Given the description of an element on the screen output the (x, y) to click on. 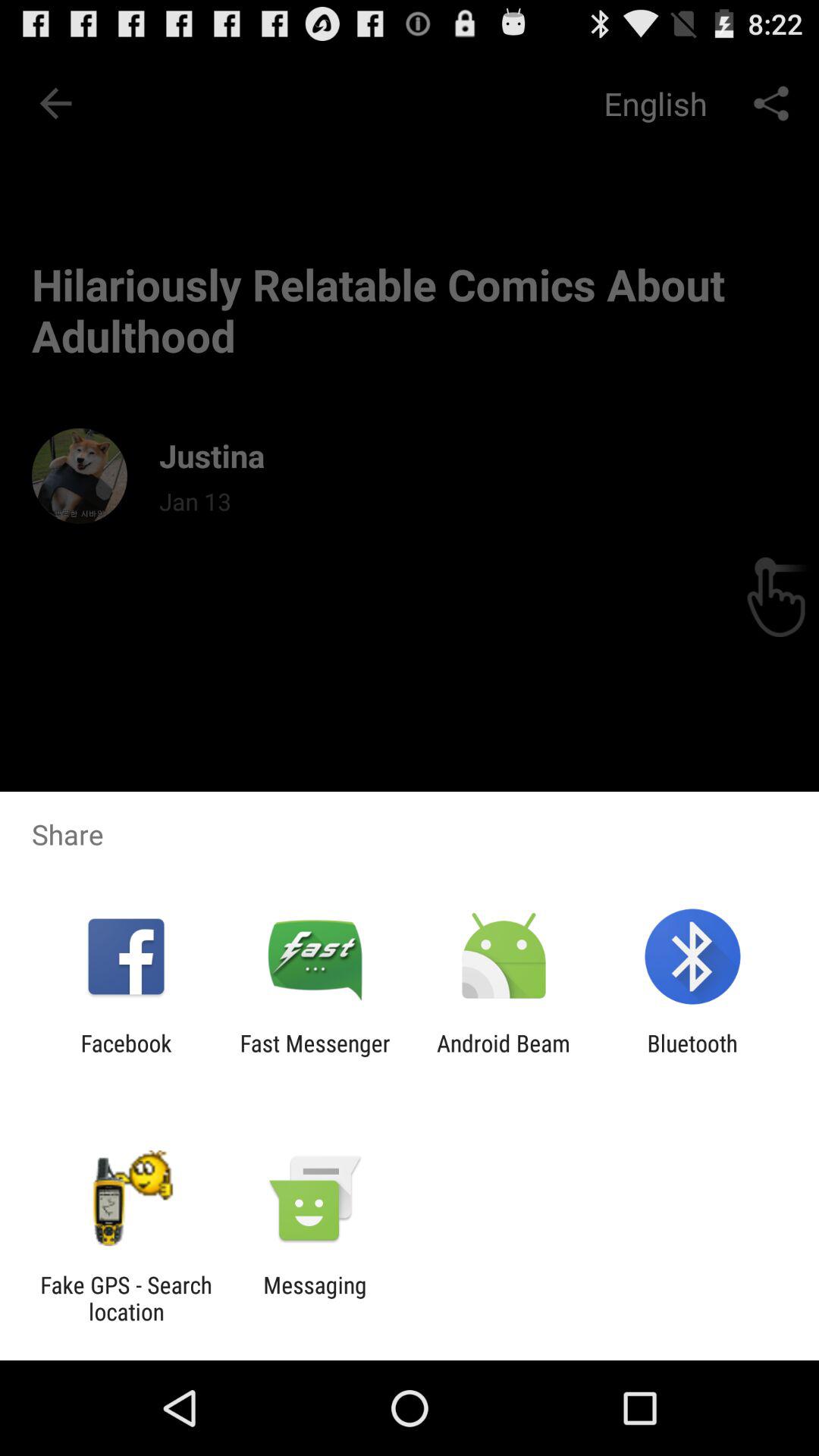
click the icon next to fast messenger icon (503, 1056)
